Given the description of an element on the screen output the (x, y) to click on. 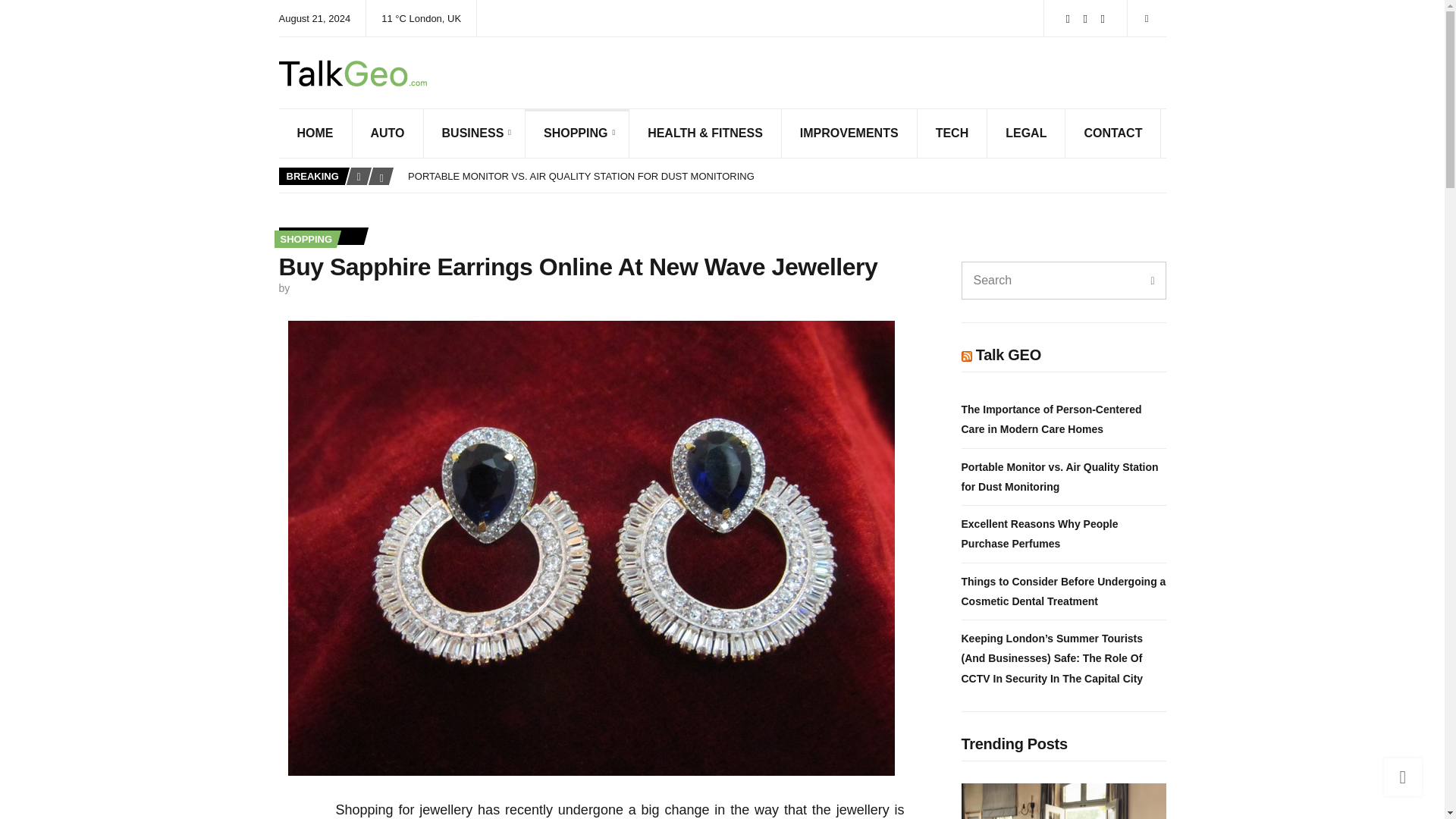
Facebook (1068, 18)
LEGAL (1026, 133)
SHOPPING (307, 238)
TECH (952, 133)
SHOPPING (576, 133)
Pinterest (1102, 18)
PORTABLE MONITOR VS. AIR QUALITY STATION FOR DUST MONITORING (580, 175)
HOME (315, 133)
AUTO (387, 133)
CONTACT (1112, 133)
